Given the description of an element on the screen output the (x, y) to click on. 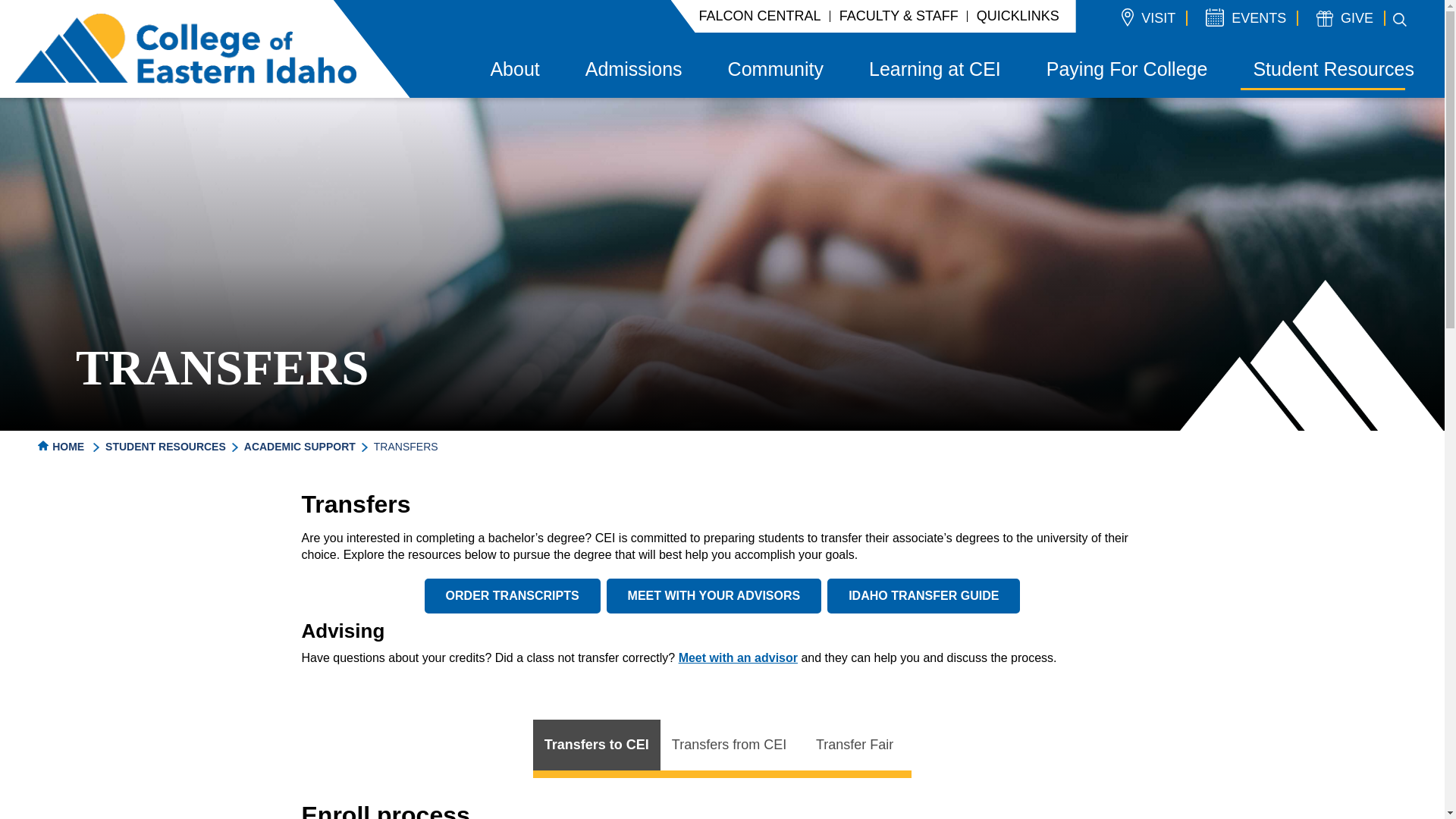
QUICKLINKS (1018, 16)
Admissions (633, 70)
VISIT (1148, 16)
Community (774, 70)
Home (185, 47)
EVENTS (1245, 16)
About (514, 70)
GIVE (1344, 16)
FALCON CENTRAL (759, 16)
